Given the description of an element on the screen output the (x, y) to click on. 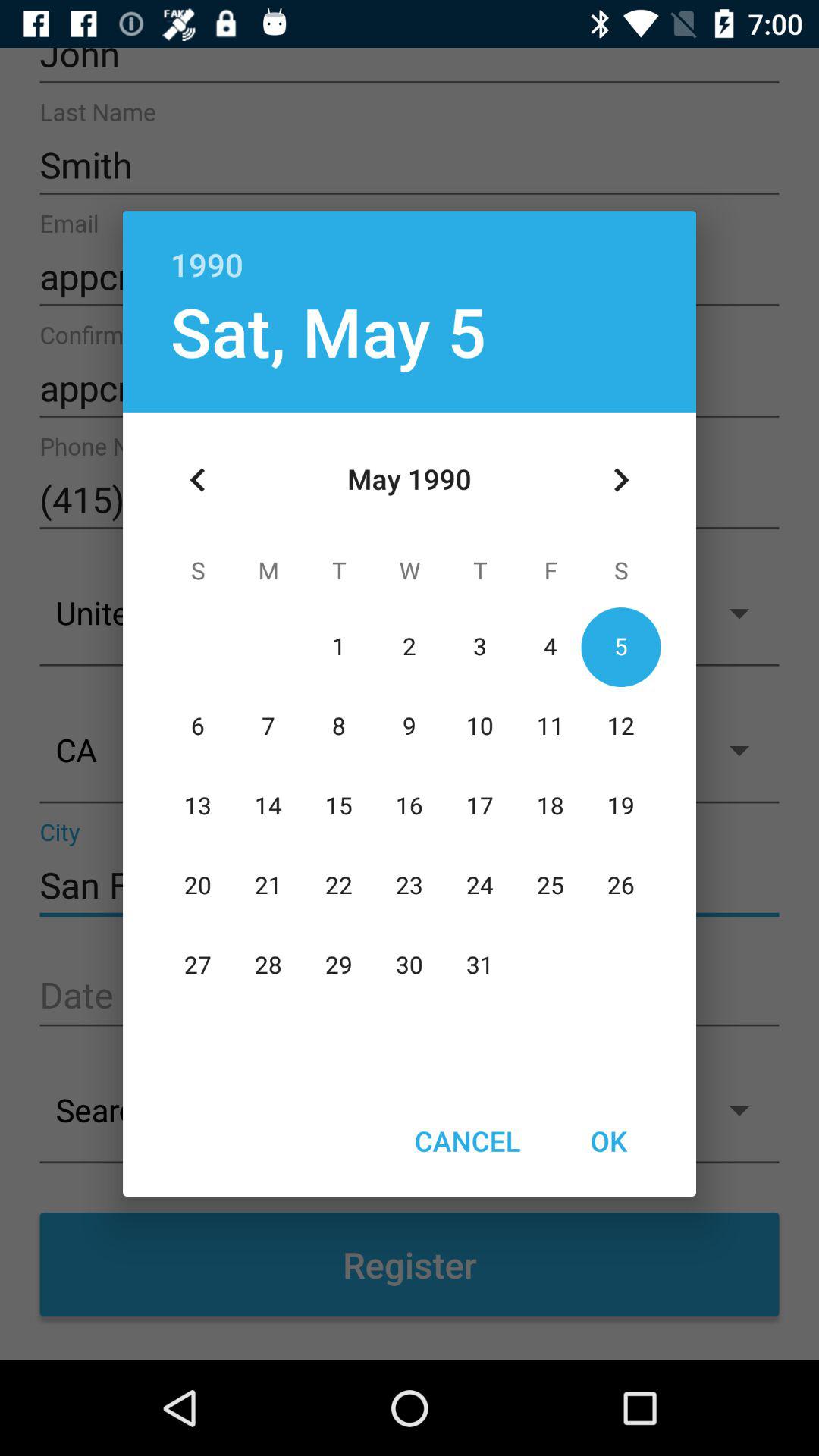
scroll until the ok item (608, 1140)
